Given the description of an element on the screen output the (x, y) to click on. 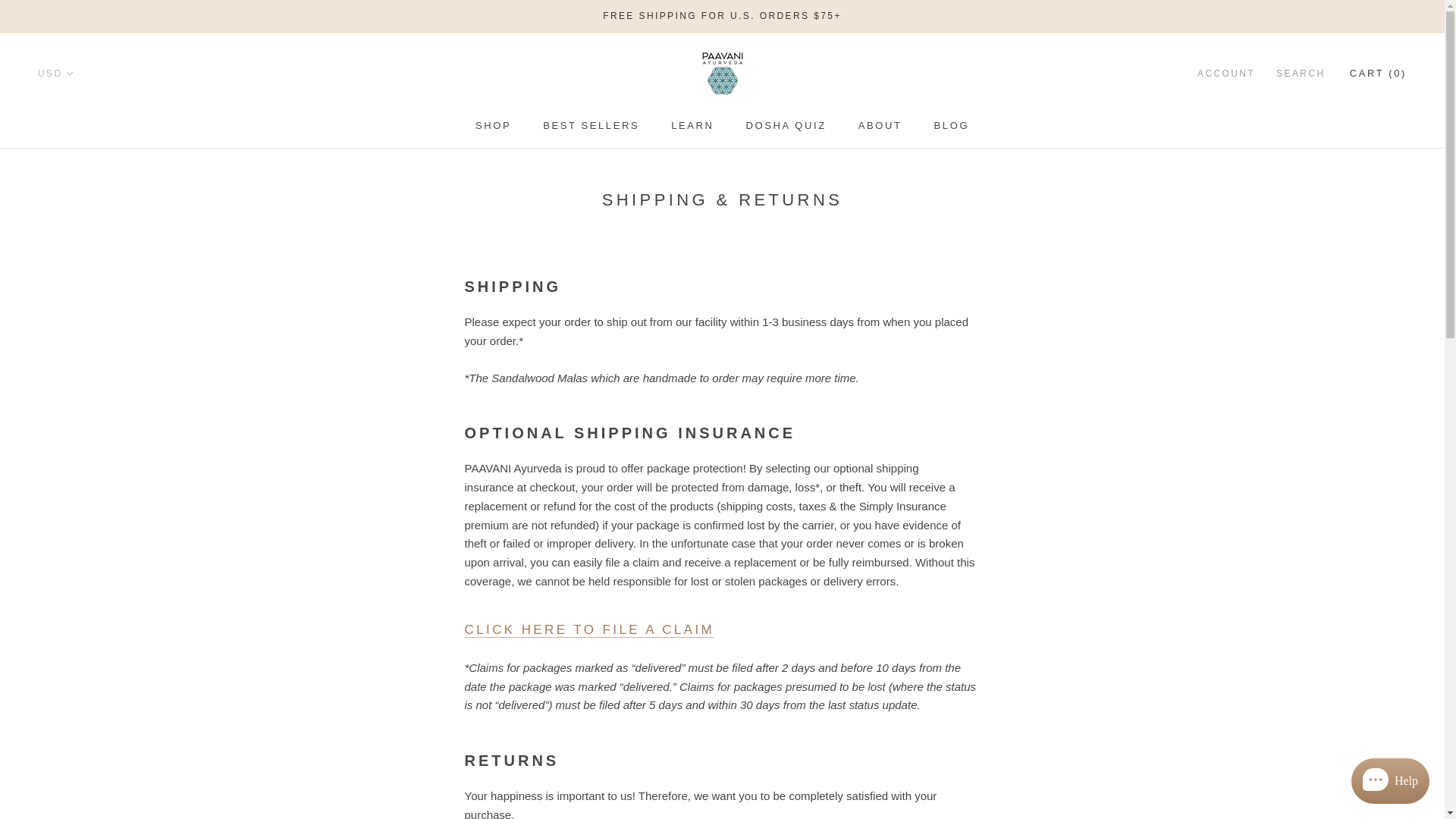
Currency selector (55, 72)
click here to file a shipping insurance claim (589, 629)
